Given the description of an element on the screen output the (x, y) to click on. 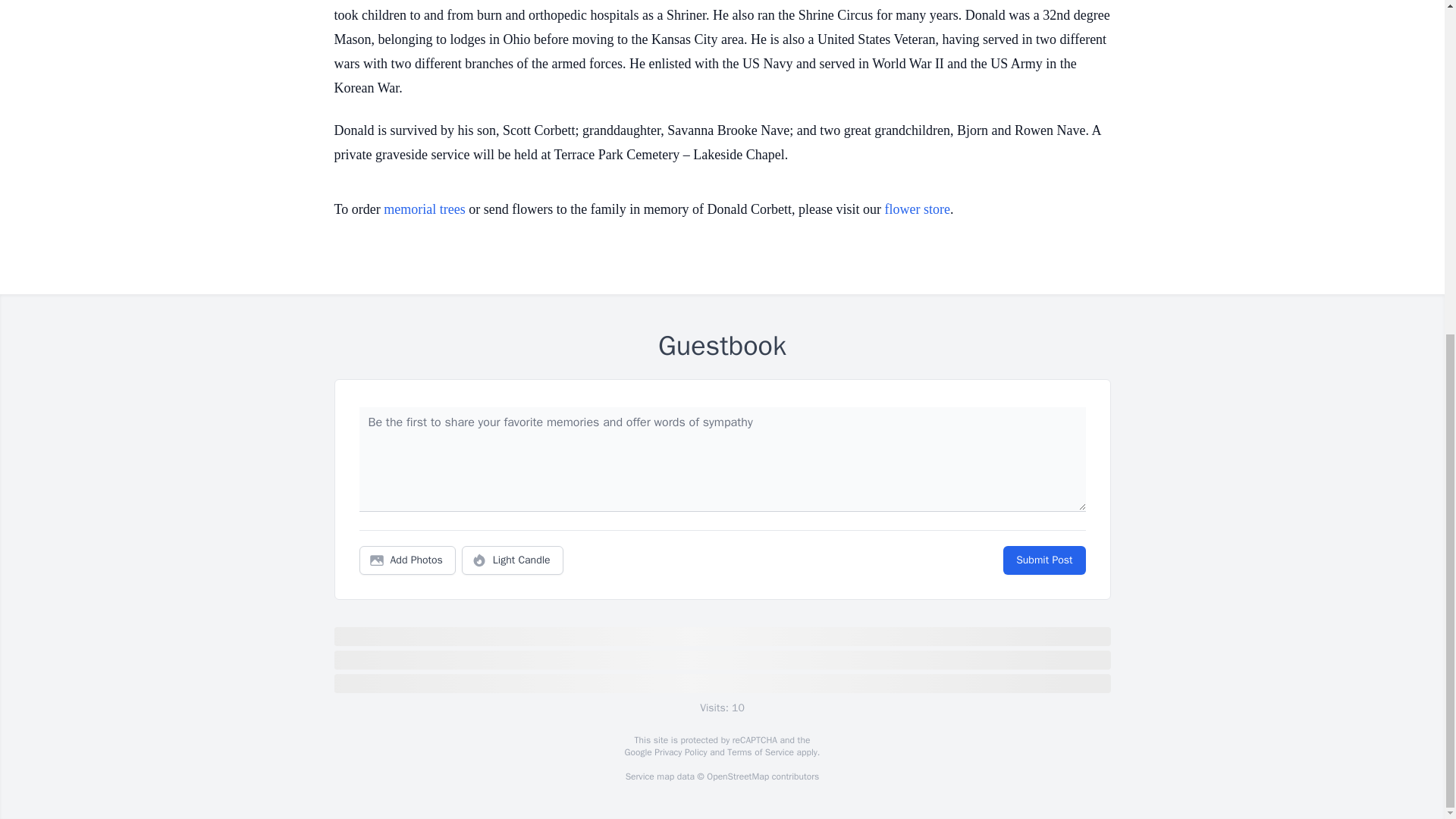
memorial trees (424, 209)
Light Candle (512, 560)
Terms of Service (759, 752)
flower store (917, 209)
OpenStreetMap (737, 776)
Add Photos (407, 560)
Privacy Policy (679, 752)
Submit Post (1043, 560)
